Given the description of an element on the screen output the (x, y) to click on. 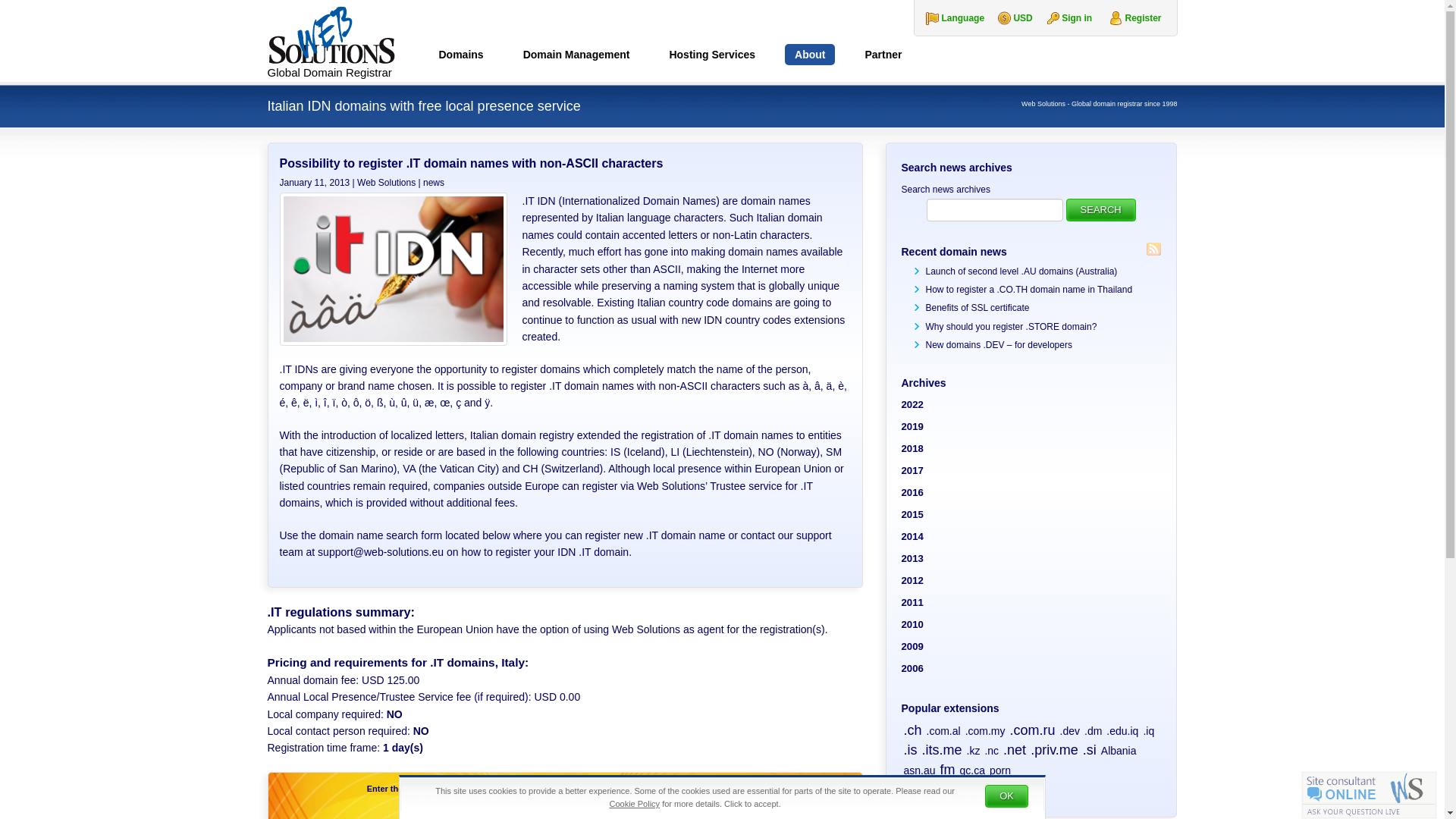
Register (1142, 18)
Domain names registration (461, 57)
Client Panel (1076, 18)
USD (1009, 18)
Client Panel (1142, 18)
Language (949, 18)
Domain Management (576, 57)
Global Domain Registrar (342, 40)
Search (1100, 210)
Sign in (1076, 18)
